Given the description of an element on the screen output the (x, y) to click on. 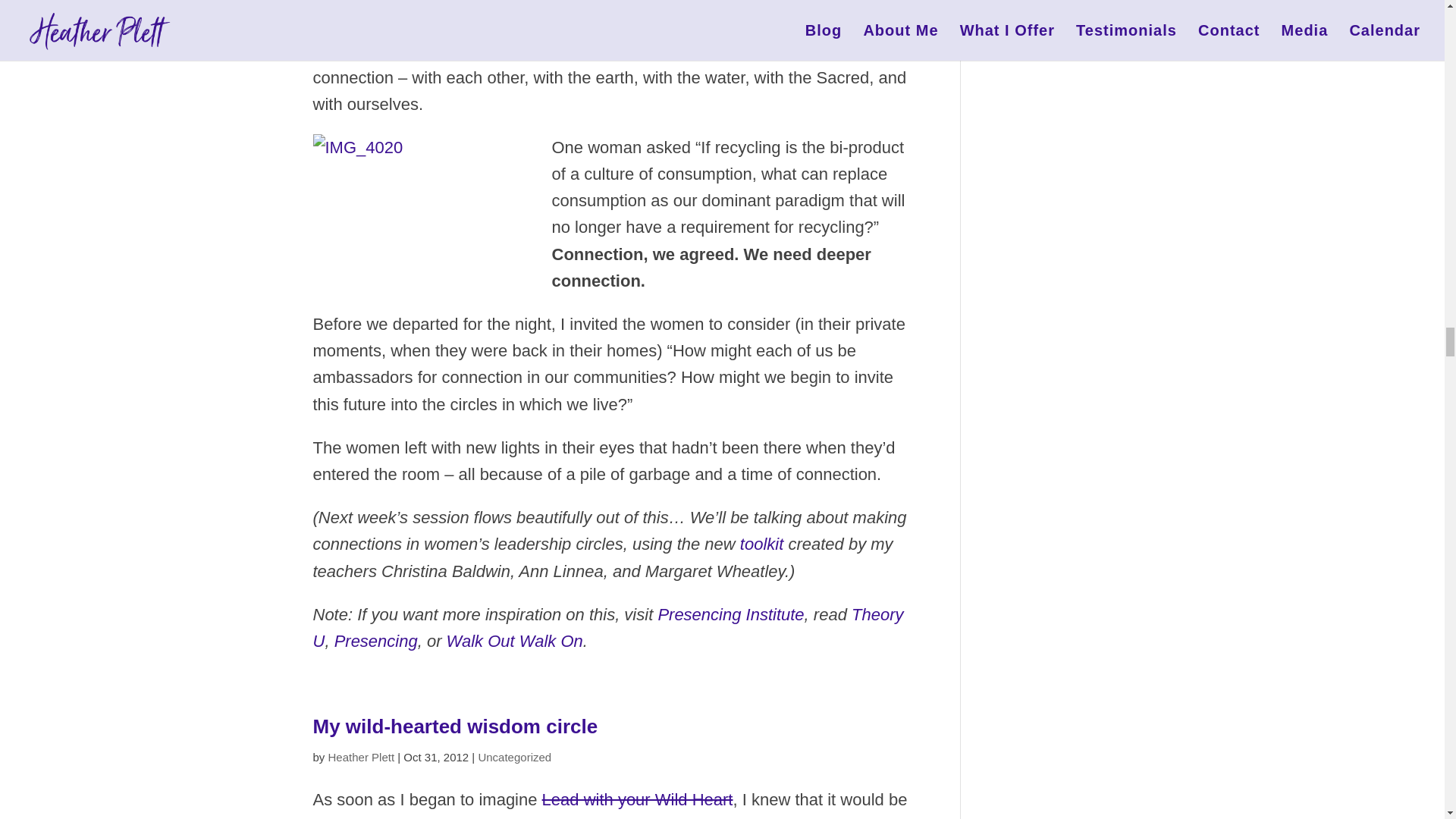
Posts by Heather Plett (361, 757)
